Given the description of an element on the screen output the (x, y) to click on. 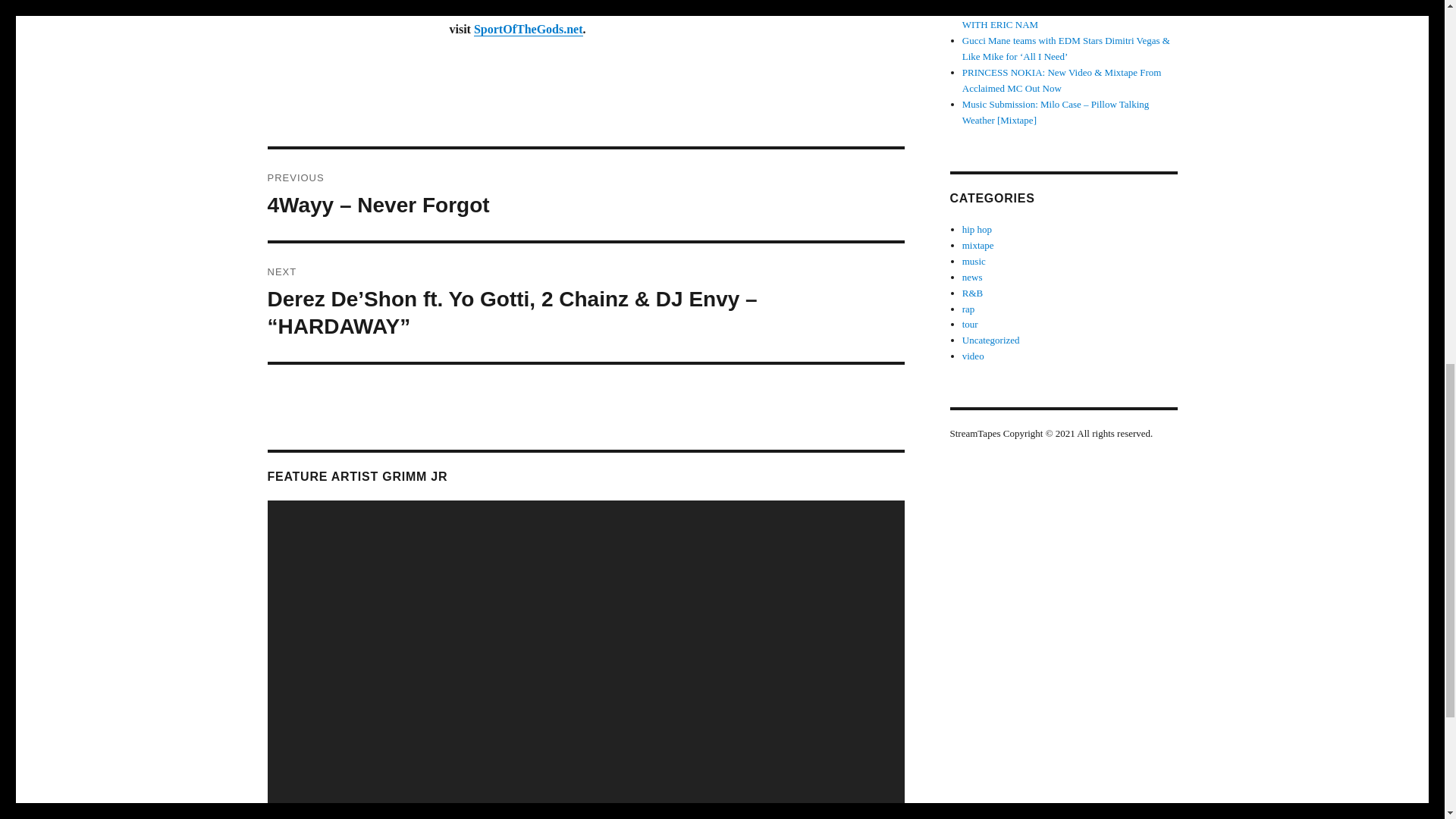
SportOfTheGods.net (528, 29)
mixtape (978, 244)
hip hop (976, 229)
music (973, 260)
